Given the description of an element on the screen output the (x, y) to click on. 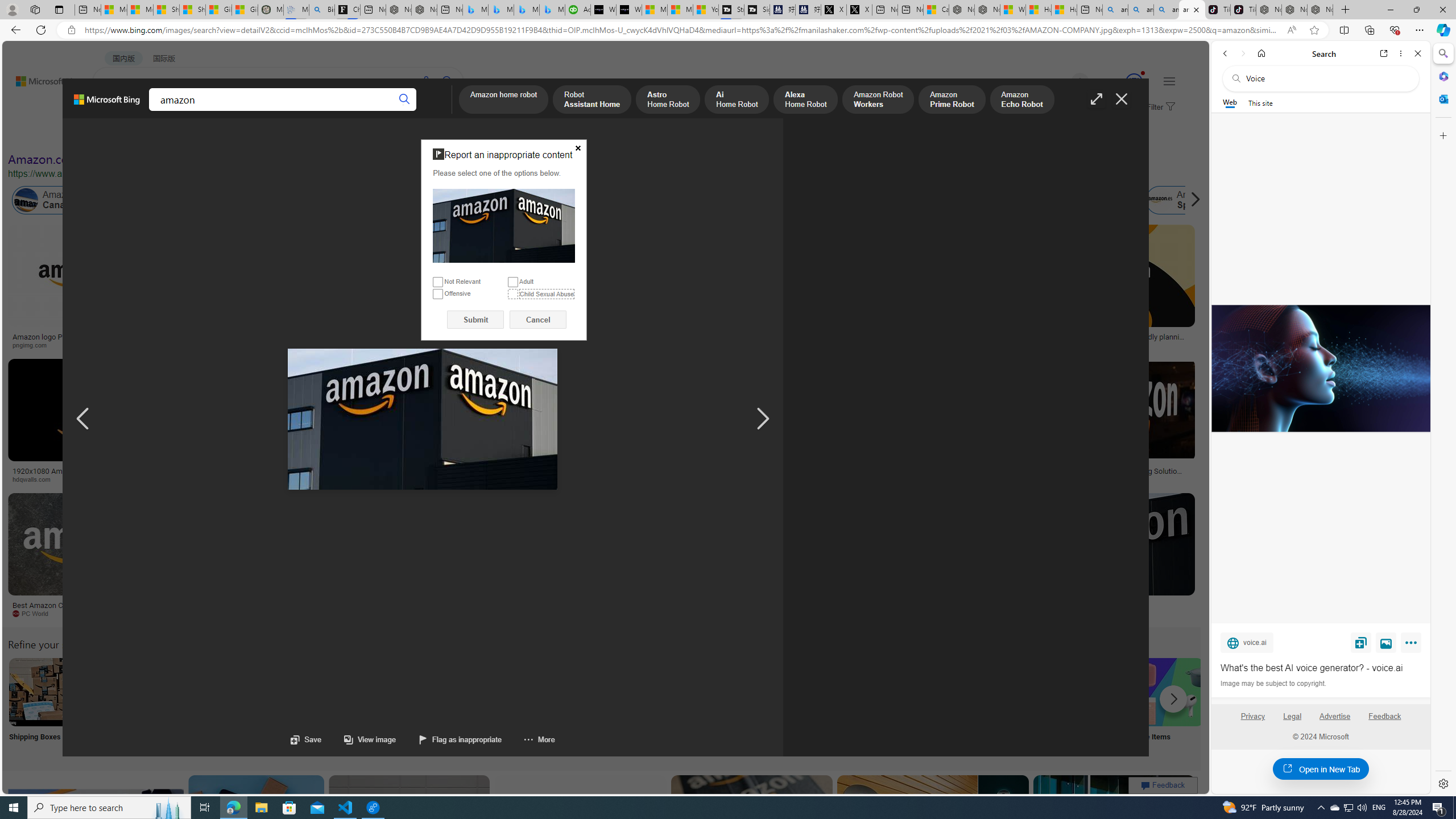
Robot Assistant Home (592, 100)
TikTok (1242, 9)
Open link in new tab (1383, 53)
People (295, 135)
cordcuttersnews.com (860, 612)
Amazon down? Current status and problems | Downdetector (937, 340)
Nordace - Siena Pro 15 Essential Set (1320, 9)
More (1413, 644)
Sale Items (1169, 706)
